Given the description of an element on the screen output the (x, y) to click on. 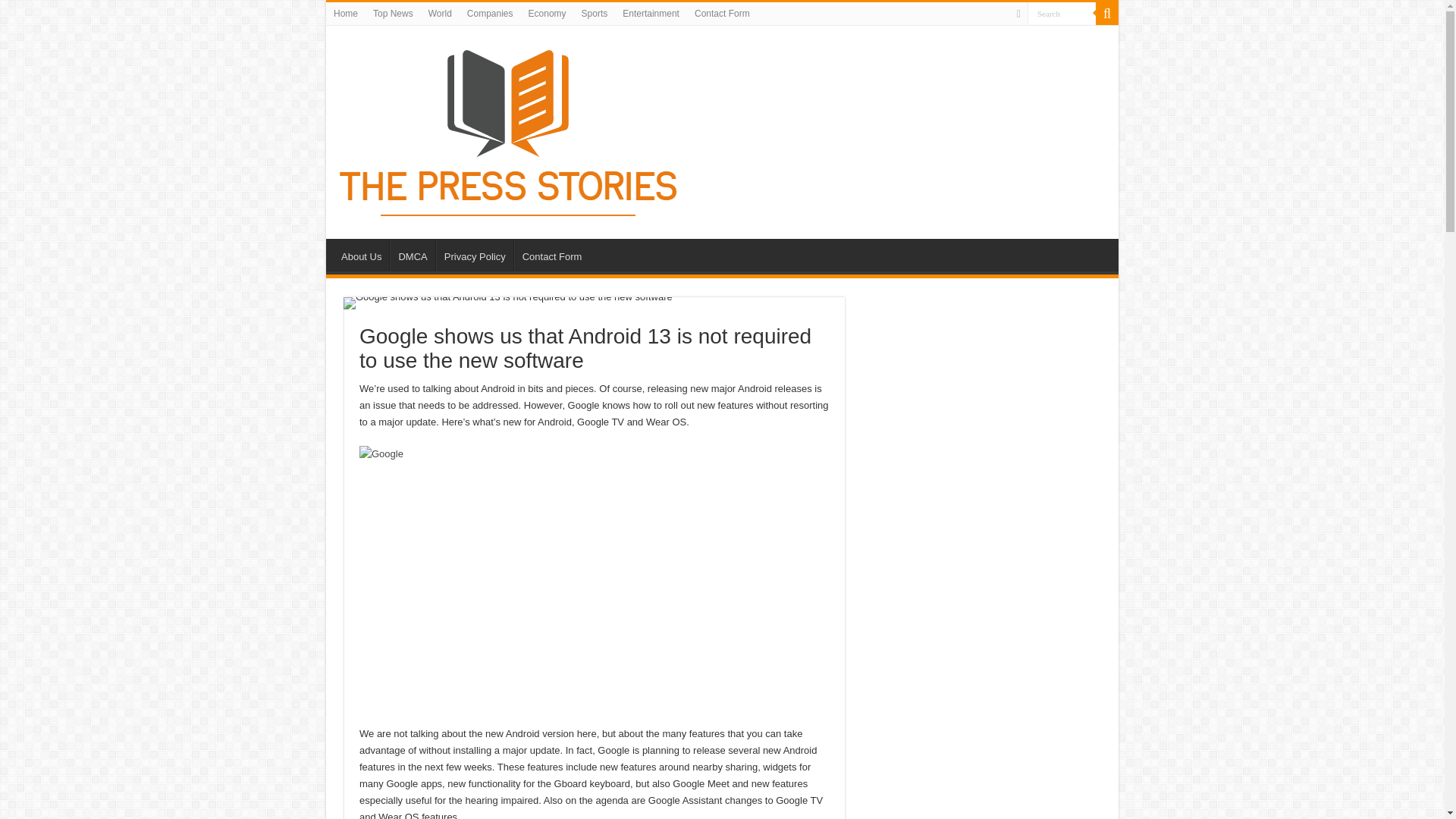
Search (1061, 13)
Home (345, 13)
Top News (392, 13)
Search (1061, 13)
Contact Form (551, 255)
Privacy Policy (474, 255)
Economy (547, 13)
Search (1107, 13)
Entertainment (650, 13)
Sports (594, 13)
